Given the description of an element on the screen output the (x, y) to click on. 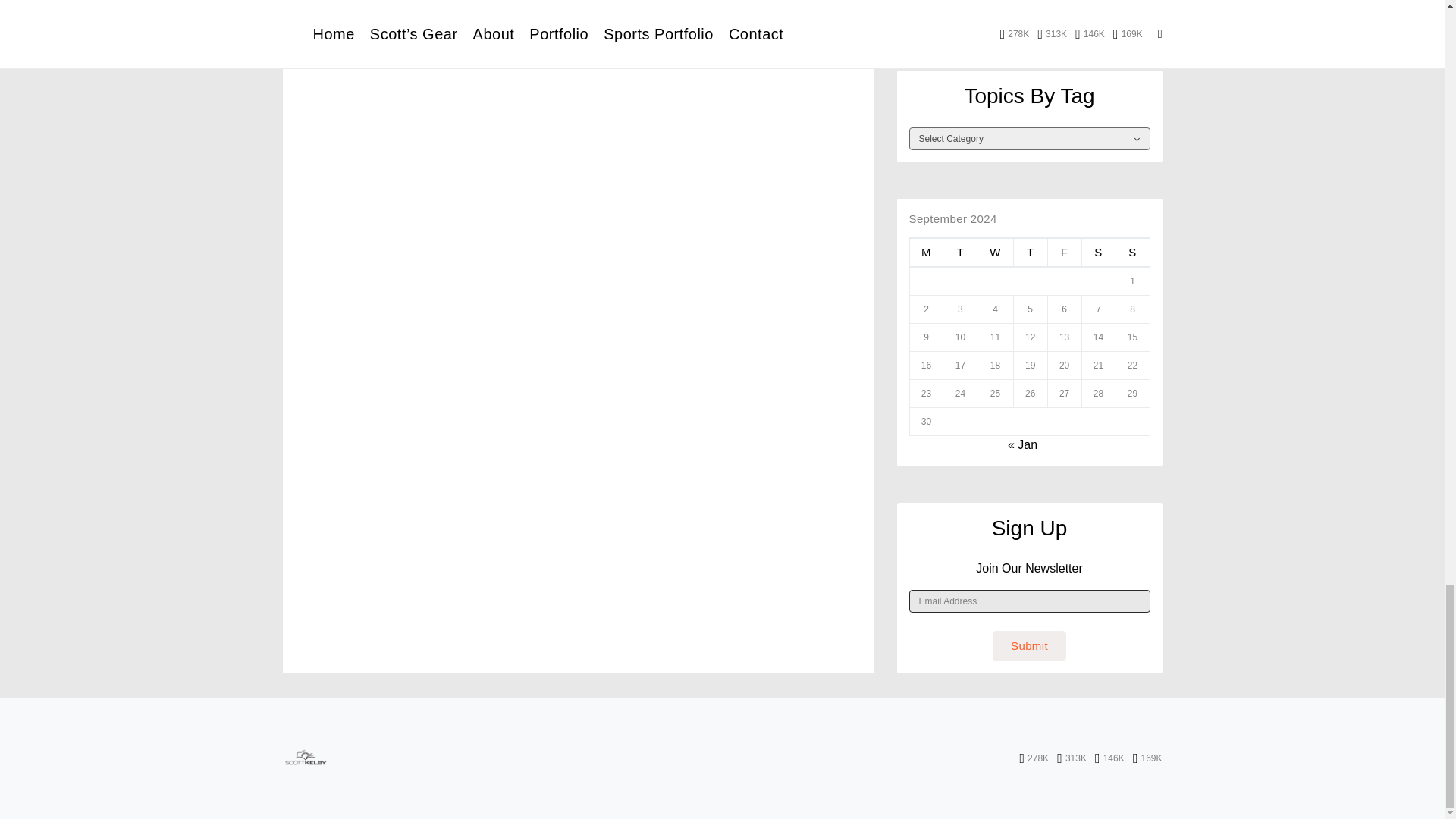
Friday (1063, 252)
Saturday (1098, 252)
Wednesday (994, 252)
Thursday (1029, 252)
Submit (1028, 645)
Sunday (1132, 252)
Monday (925, 252)
Tuesday (959, 252)
